Given the description of an element on the screen output the (x, y) to click on. 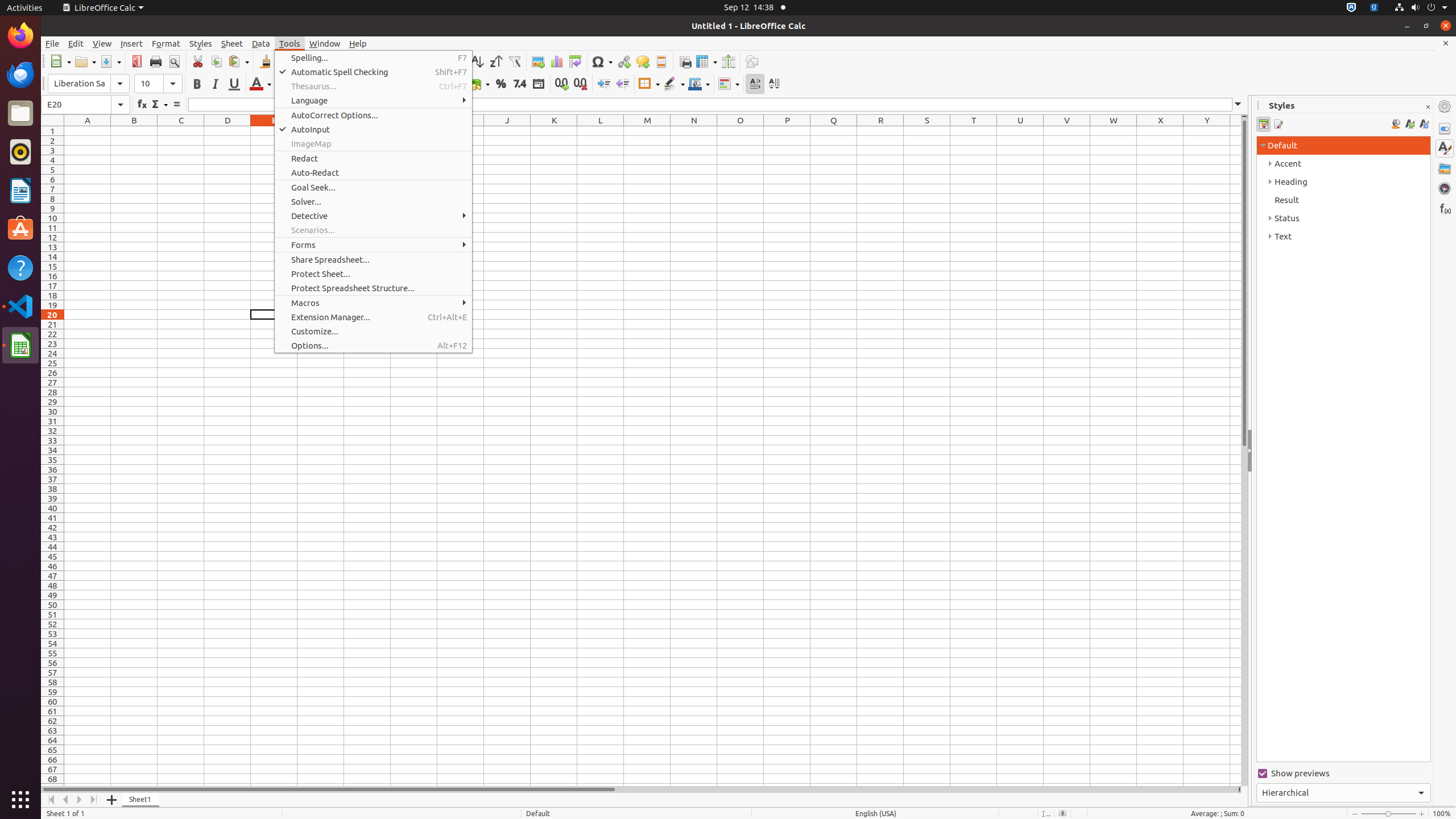
Open Element type: push-button (84, 61)
Language Element type: menu (373, 100)
Close Sidebar Deck Element type: push-button (1427, 106)
Chart Element type: push-button (556, 61)
Goal Seek... Element type: menu-item (373, 187)
